Given the description of an element on the screen output the (x, y) to click on. 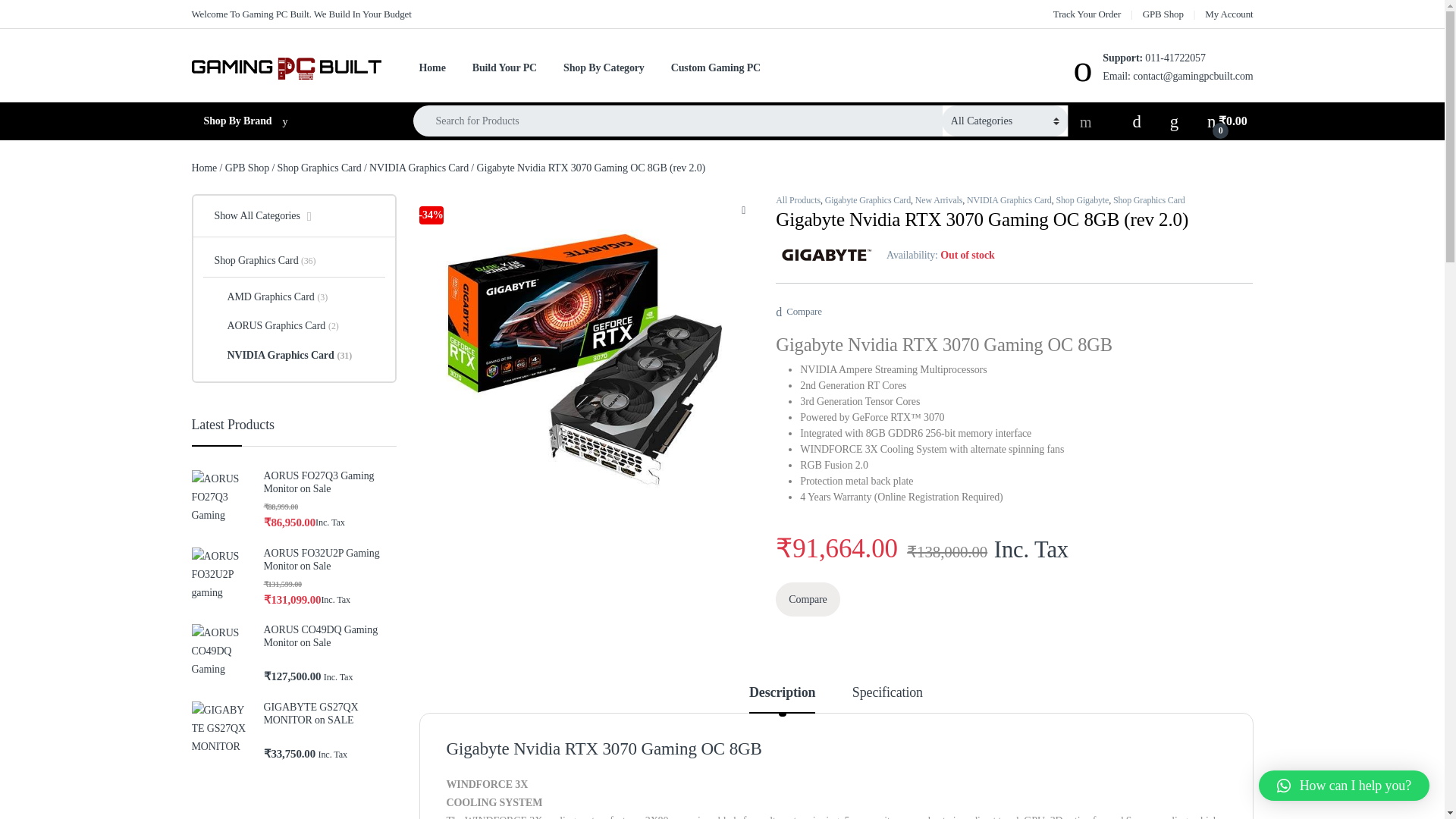
Shop By Category (604, 67)
Welcome To Gaming PC Built. We Build In Your Budget (300, 13)
Build Your PC (504, 67)
My Account (1228, 13)
Welcome To Gaming PC Built. We Build In Your Budget (300, 13)
Track Your Order (1086, 13)
GPB Shop (1162, 13)
My Account (1228, 13)
Track Your Order (1086, 13)
GPB Shop (1162, 13)
